Given the description of an element on the screen output the (x, y) to click on. 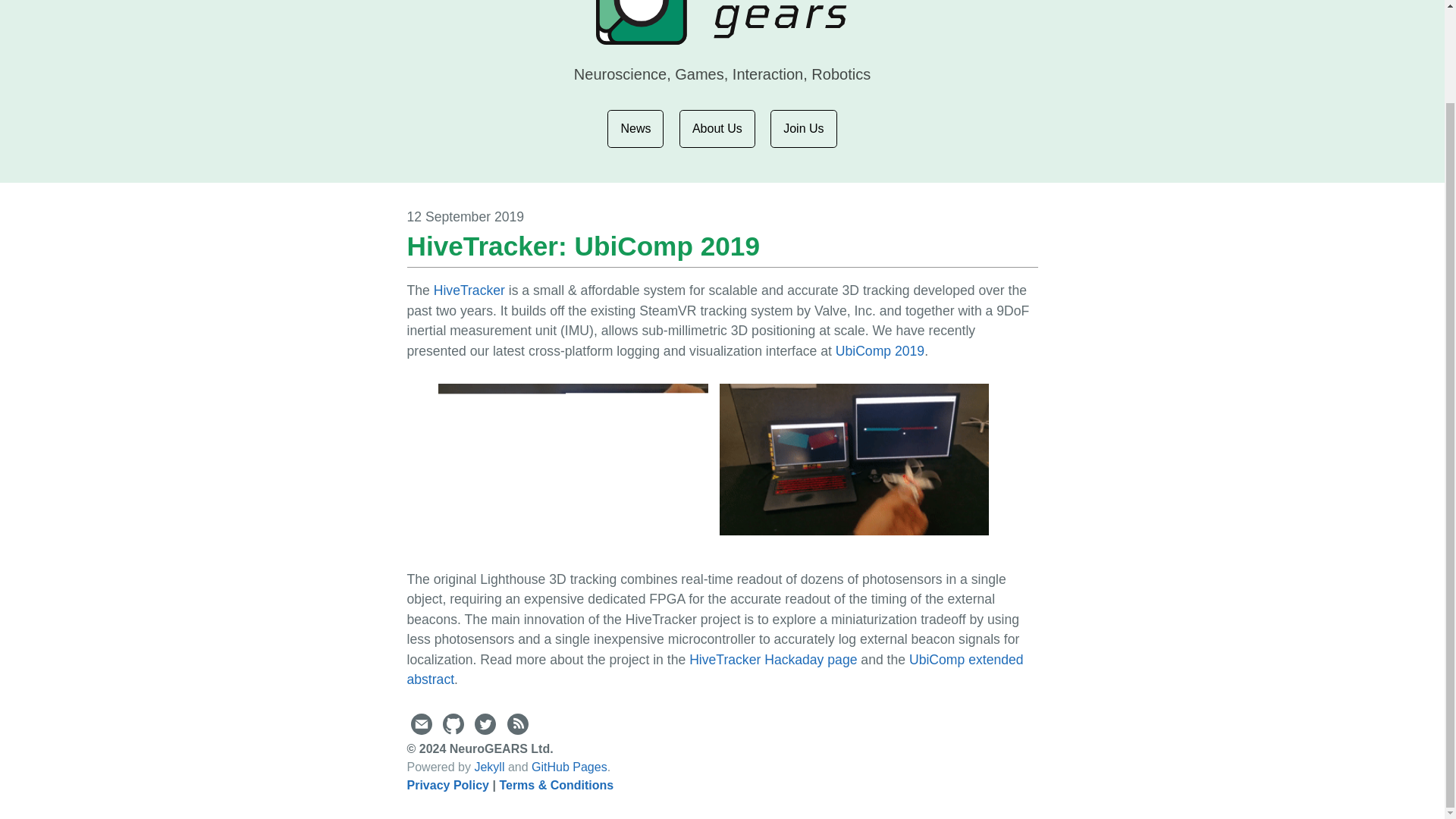
neurogears's RSS feed (517, 730)
GitHub Pages (569, 766)
UbiComp extended abstract (714, 668)
About Us (717, 128)
HiveTracker (469, 290)
Join Us (802, 128)
neurogears's Email (422, 730)
Computer demo (854, 459)
UbiComp 2019 (879, 350)
News (635, 128)
